Given the description of an element on the screen output the (x, y) to click on. 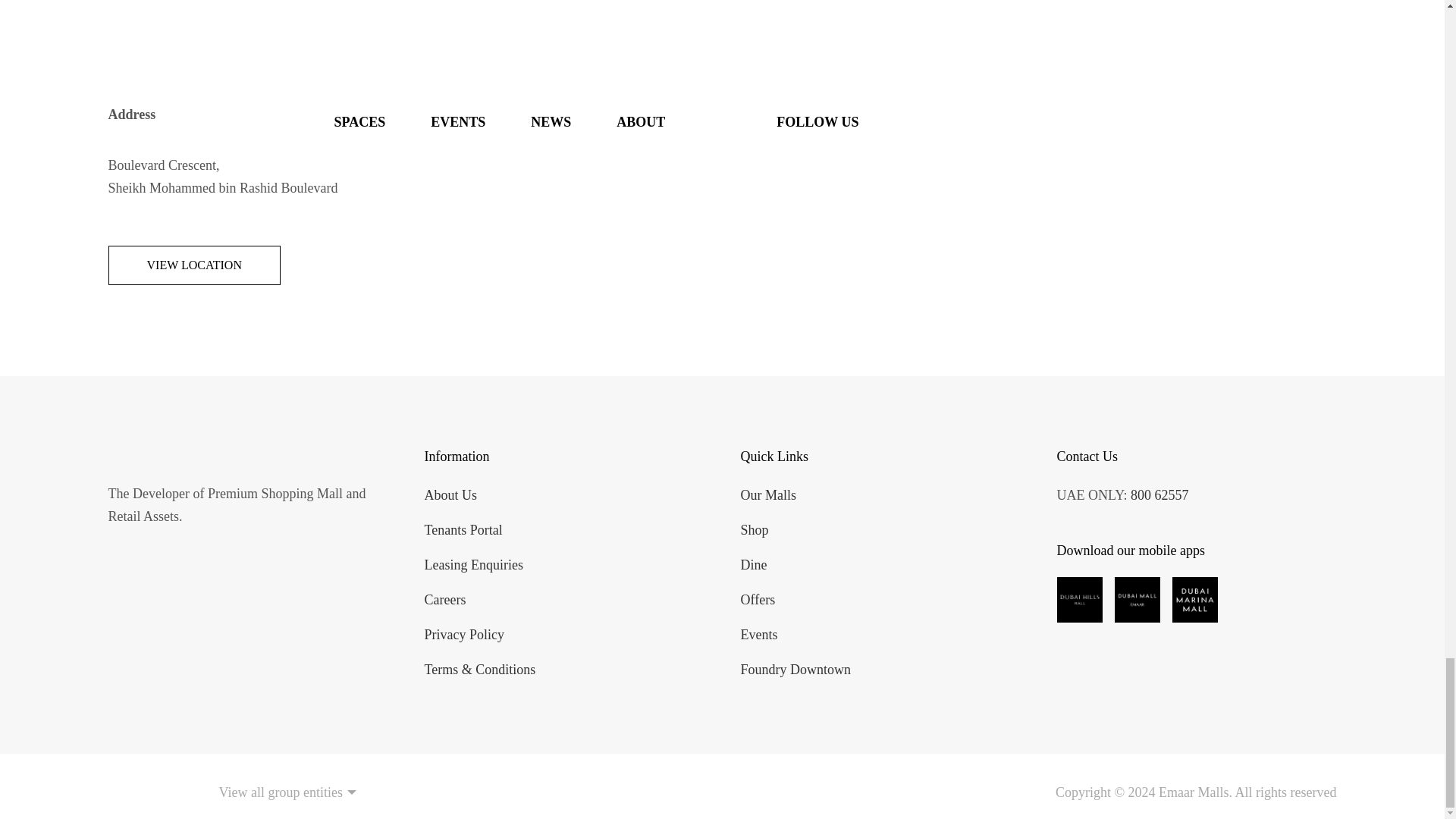
VIEW LOCATION (193, 265)
Tenants Portal (463, 529)
About Us (451, 494)
Careers (445, 599)
Leasing Enquiries (473, 564)
